Given the description of an element on the screen output the (x, y) to click on. 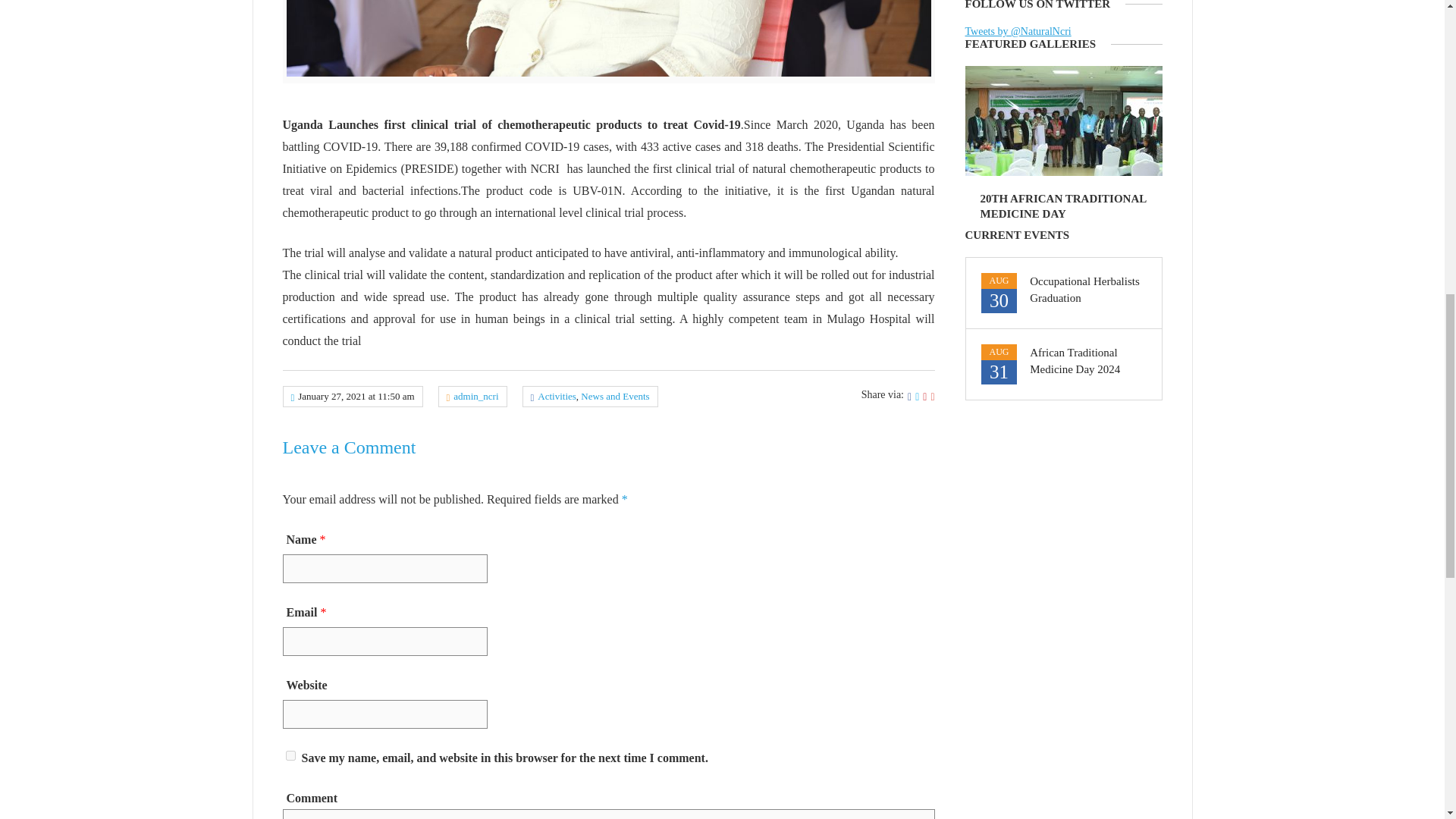
20TH AFRICAN TRADITIONAL MEDICINE DAY (1062, 121)
Activities (556, 396)
yes (290, 755)
News and Events (614, 396)
20TH AFRICAN TRADITIONAL MEDICINE DAY (1062, 206)
